Given the description of an element on the screen output the (x, y) to click on. 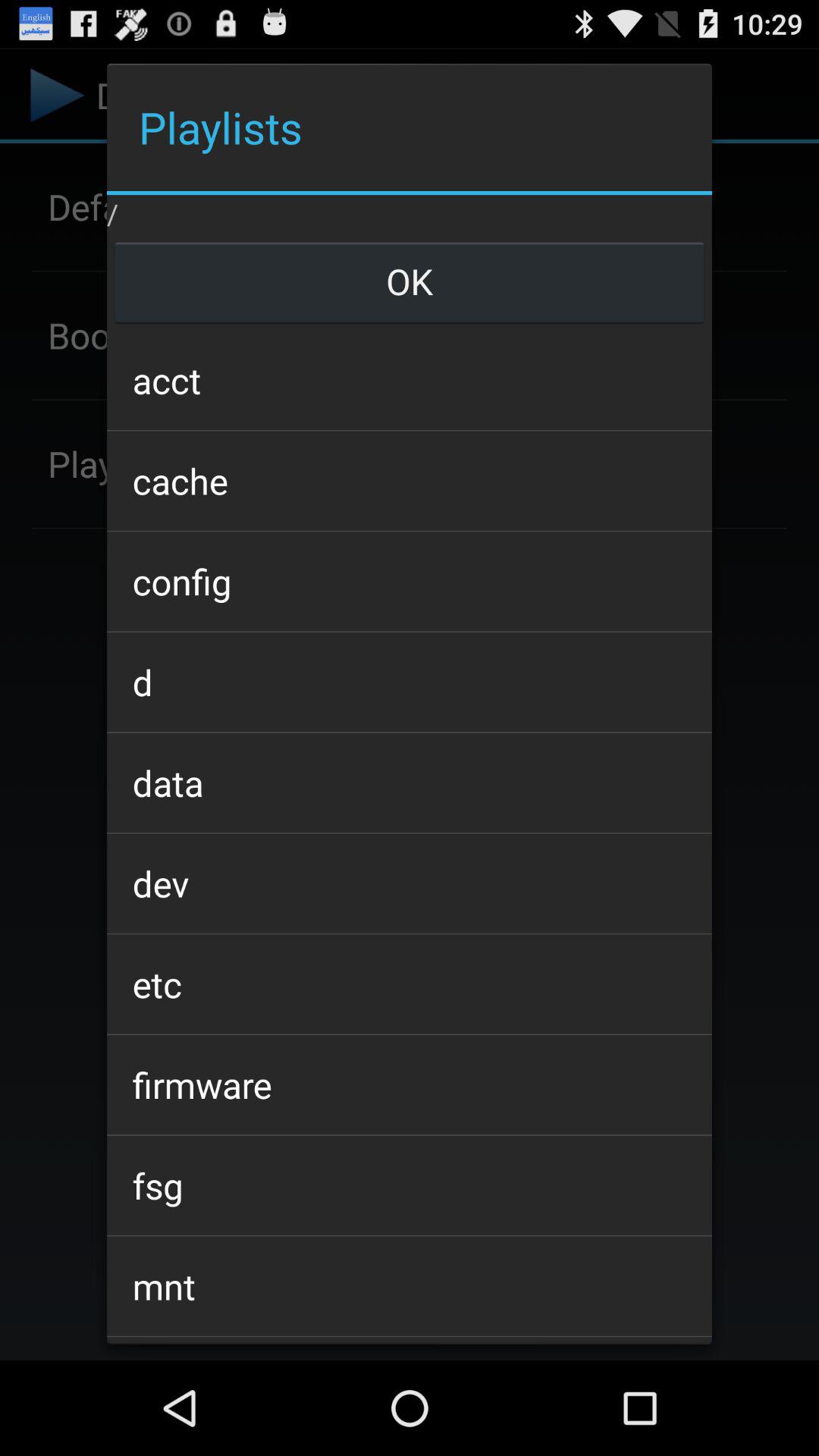
select item below the mnt (409, 1340)
